Given the description of an element on the screen output the (x, y) to click on. 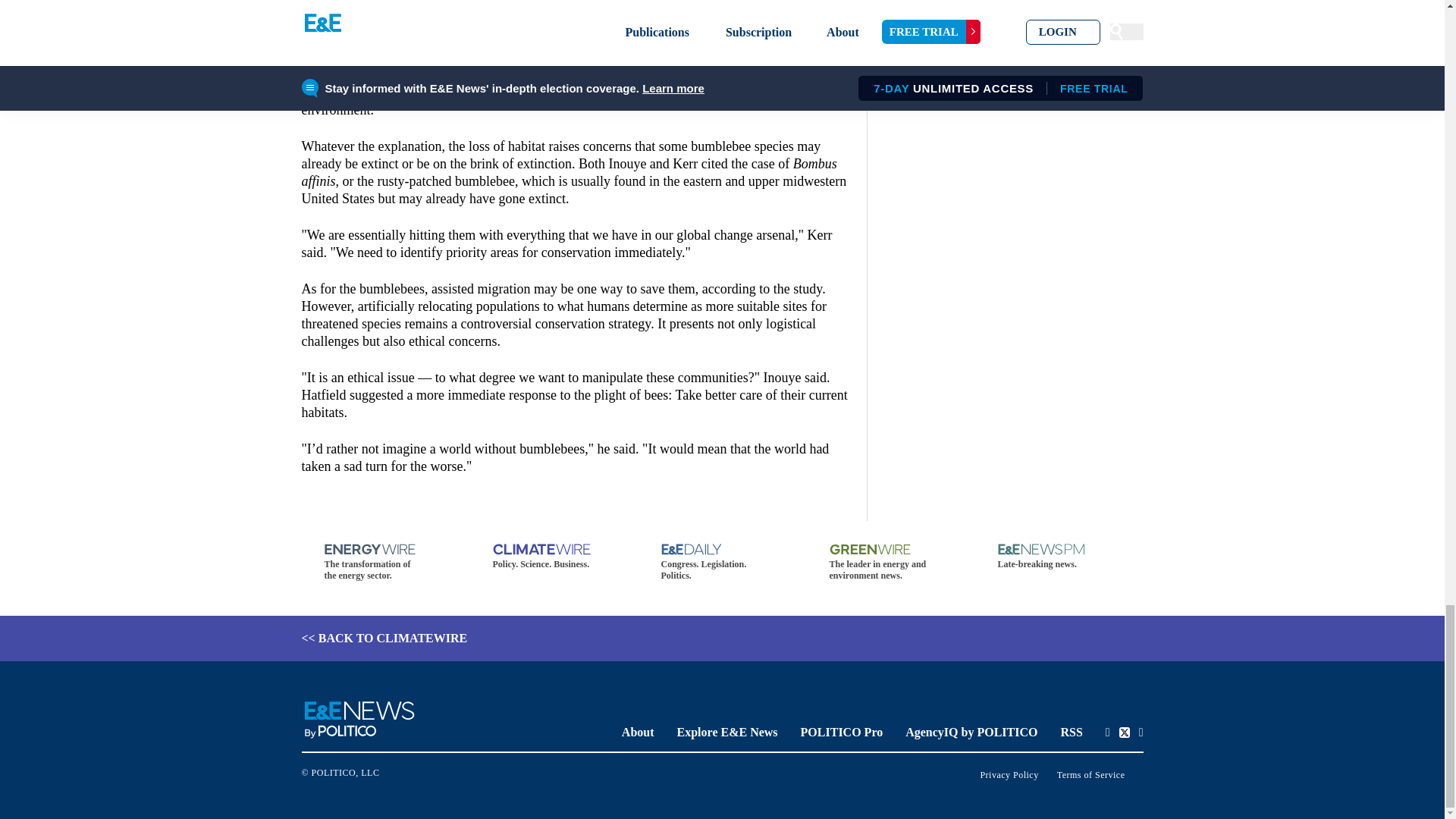
The transformation of the energy sector. (385, 562)
About (637, 731)
Congress. Legislation. Politics. (722, 562)
The leader in energy and environment news. (890, 562)
Late-breaking news. (1058, 556)
Policy. Science. Business. (554, 556)
